Given the description of an element on the screen output the (x, y) to click on. 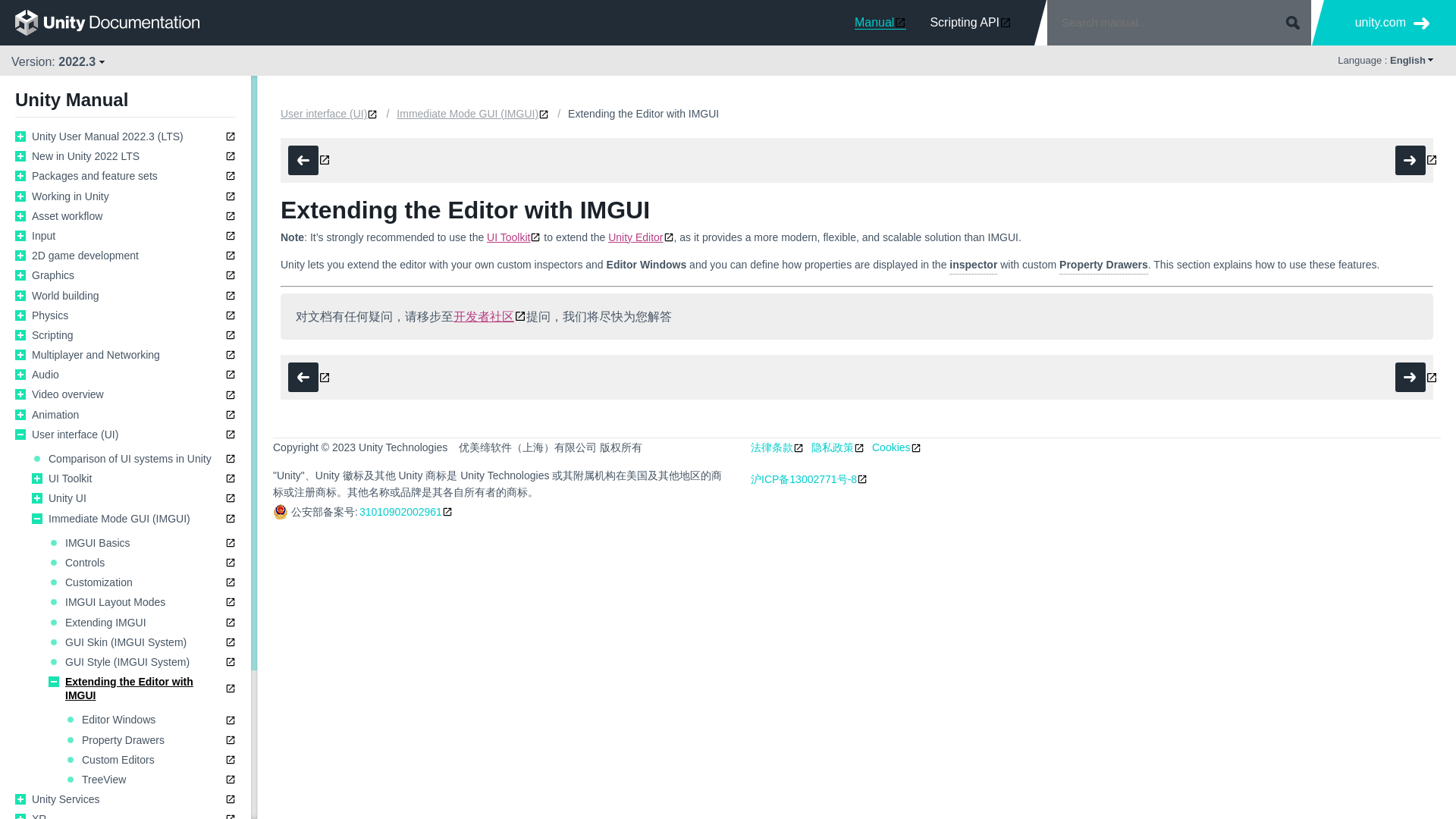
unity.com (1392, 22)
Scripting API (970, 22)
Manual (879, 22)
